Given the description of an element on the screen output the (x, y) to click on. 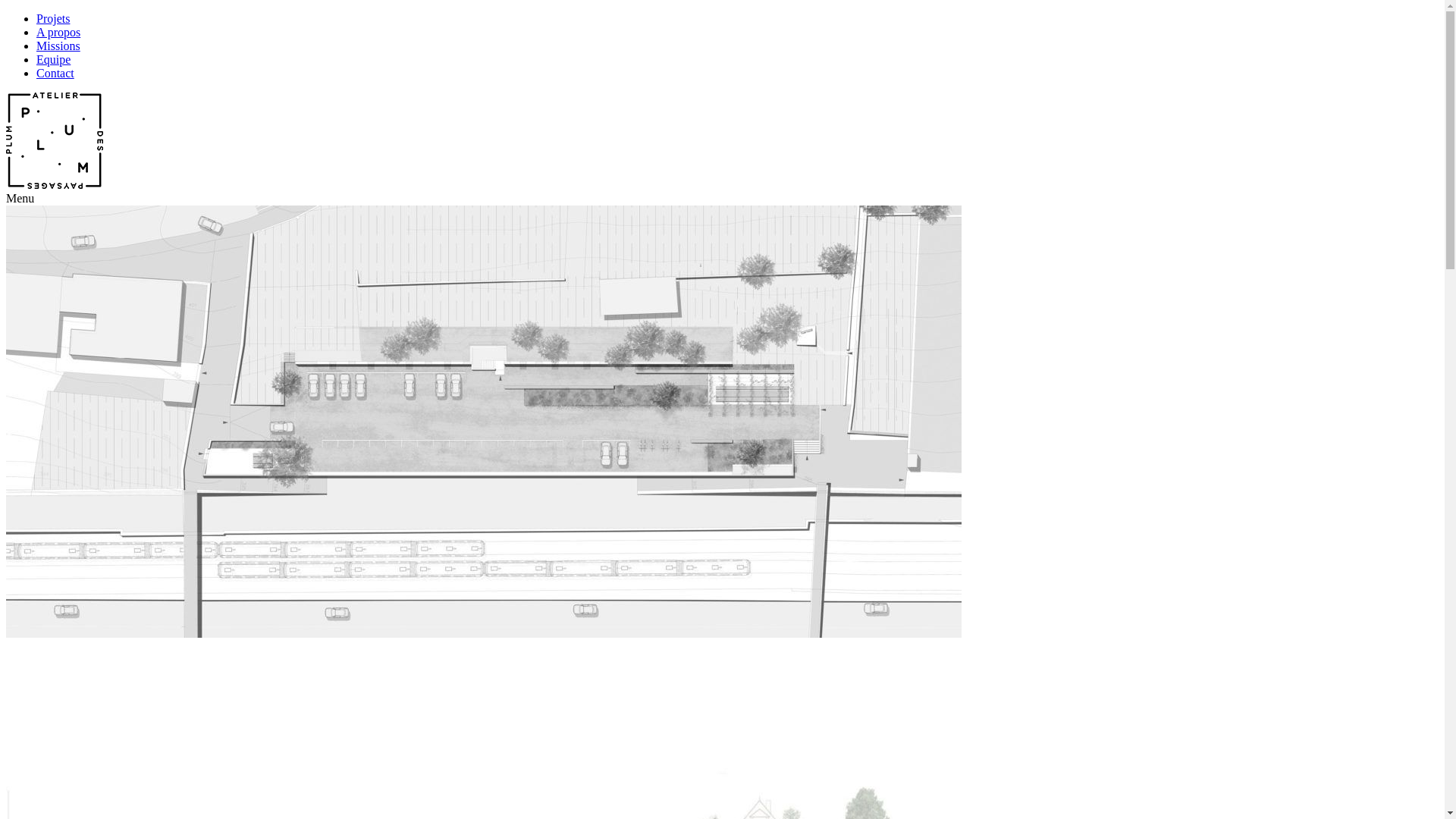
A propos Element type: text (58, 31)
Equipe Element type: text (53, 59)
Missions Element type: text (58, 45)
Contact Element type: text (55, 72)
Projets Element type: text (52, 18)
